Given the description of an element on the screen output the (x, y) to click on. 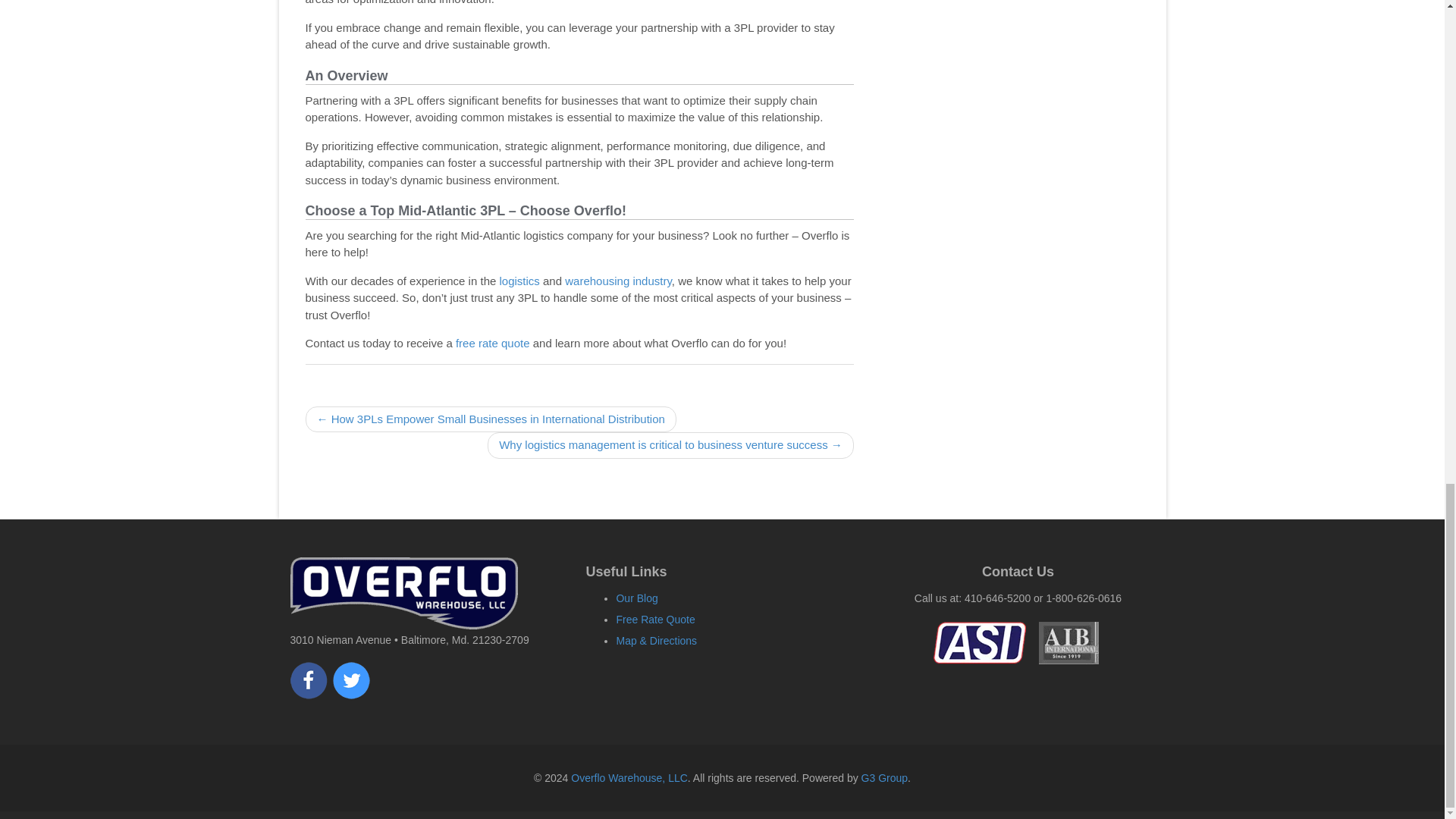
Free Rate Quote (654, 619)
warehousing industry (617, 280)
free rate quote (492, 342)
G3 Group (884, 777)
Our Blog (636, 598)
Overflo Warehouse, LLC (628, 777)
logistics (518, 280)
